Given the description of an element on the screen output the (x, y) to click on. 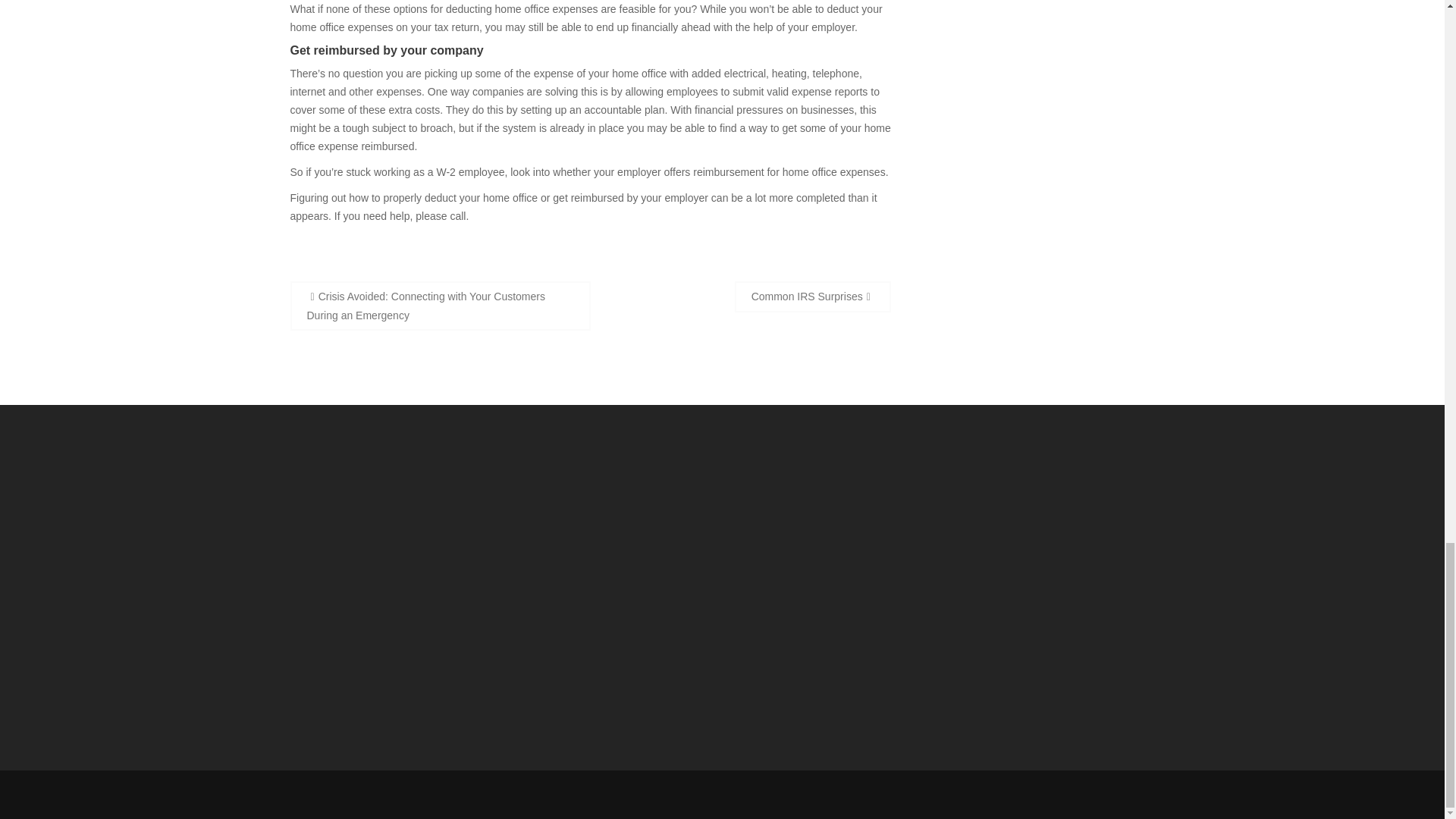
Common IRS Surprises (813, 296)
